Given the description of an element on the screen output the (x, y) to click on. 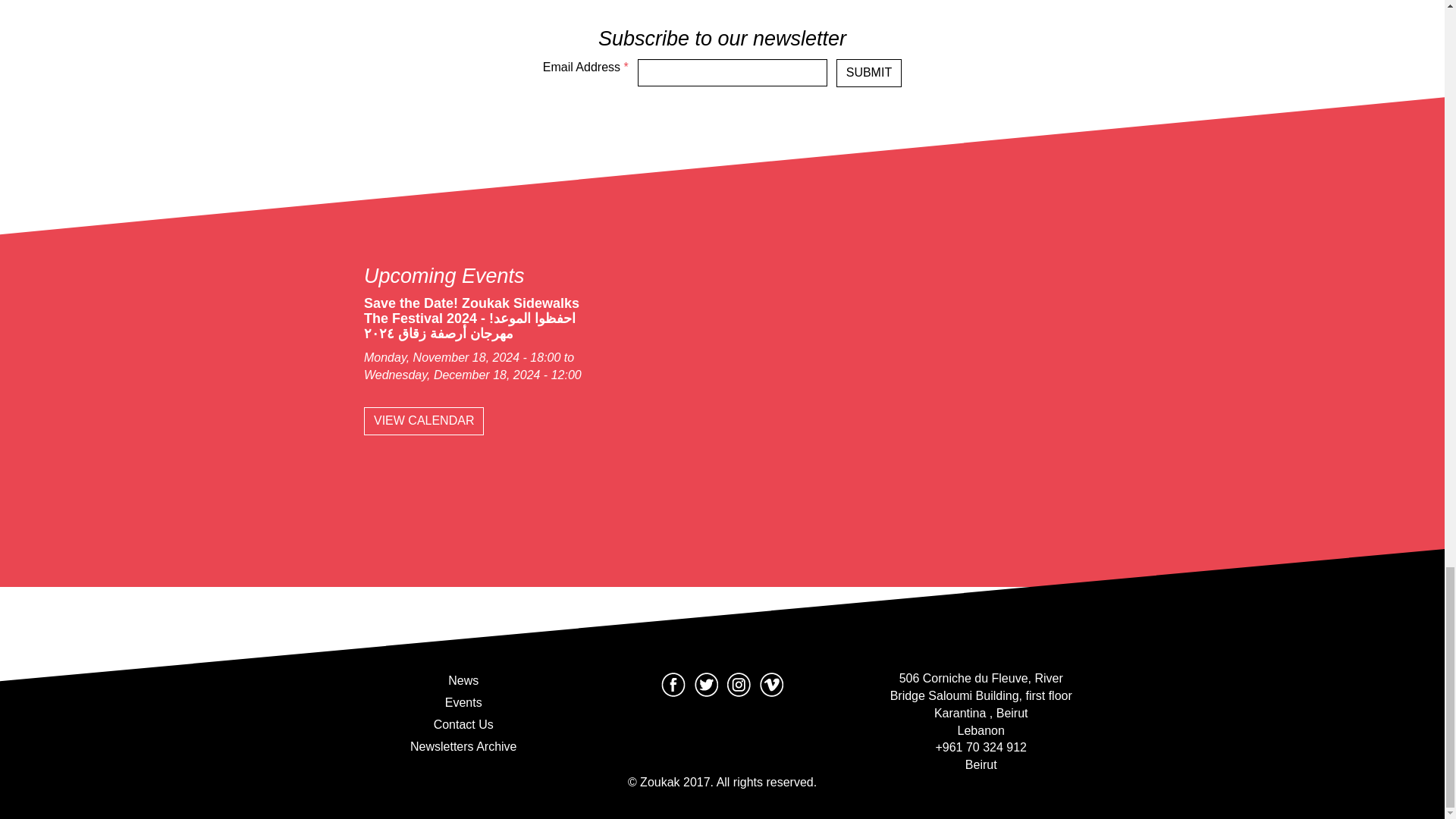
Zoukak Monthly Event calendar (423, 420)
Facebook (673, 683)
Vimeo (770, 683)
VIEW CALENDAR (423, 420)
Newsletters Archive (463, 746)
Twitter (705, 683)
Instagram (738, 683)
Contact Us (463, 725)
News (463, 681)
Events (463, 703)
SUBMIT (868, 72)
